Given the description of an element on the screen output the (x, y) to click on. 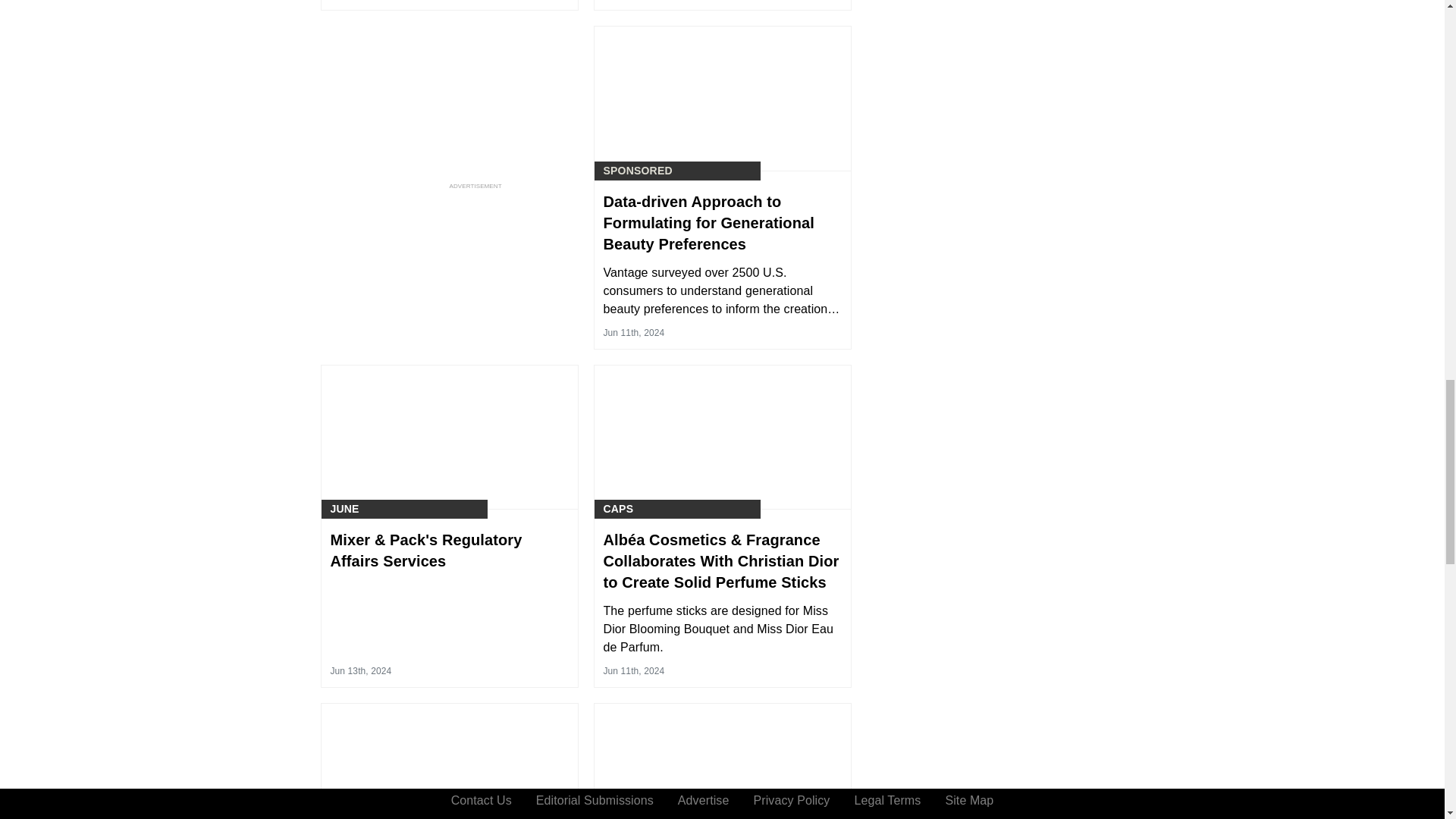
Sponsored (638, 170)
